Given the description of an element on the screen output the (x, y) to click on. 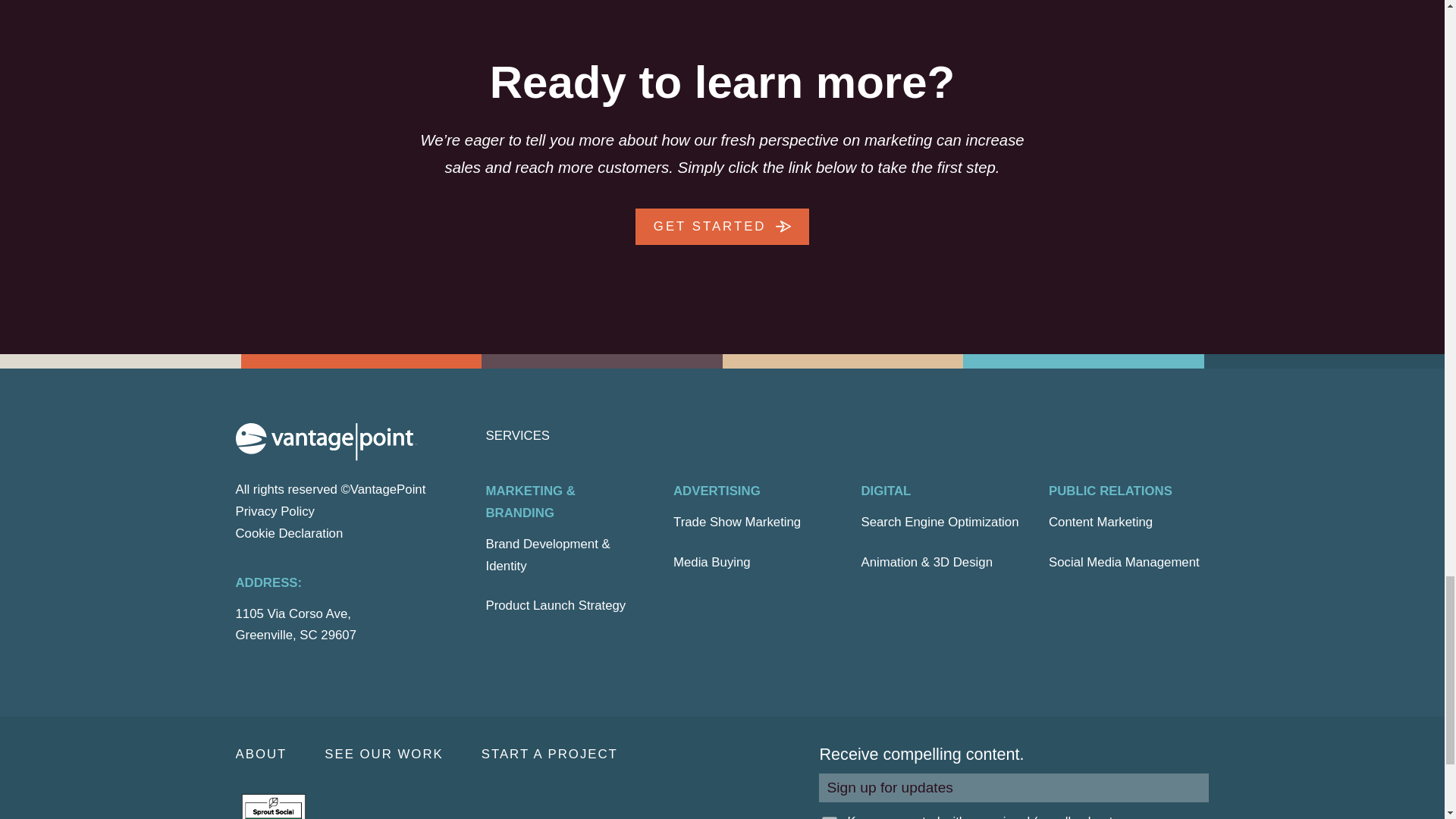
Search Engine Optimization (940, 522)
Media Buying (711, 563)
SEE OUR WORK (402, 754)
START A PROJECT (568, 754)
GET STARTED (721, 226)
SERVICES (517, 435)
Trade Show Marketing (736, 522)
Cookie Declaration (288, 533)
Privacy Policy (274, 511)
ABOUT (279, 754)
Product Launch Strategy (555, 606)
1 (829, 817)
Content Marketing (1100, 522)
Social Media Management (1123, 563)
